Given the description of an element on the screen output the (x, y) to click on. 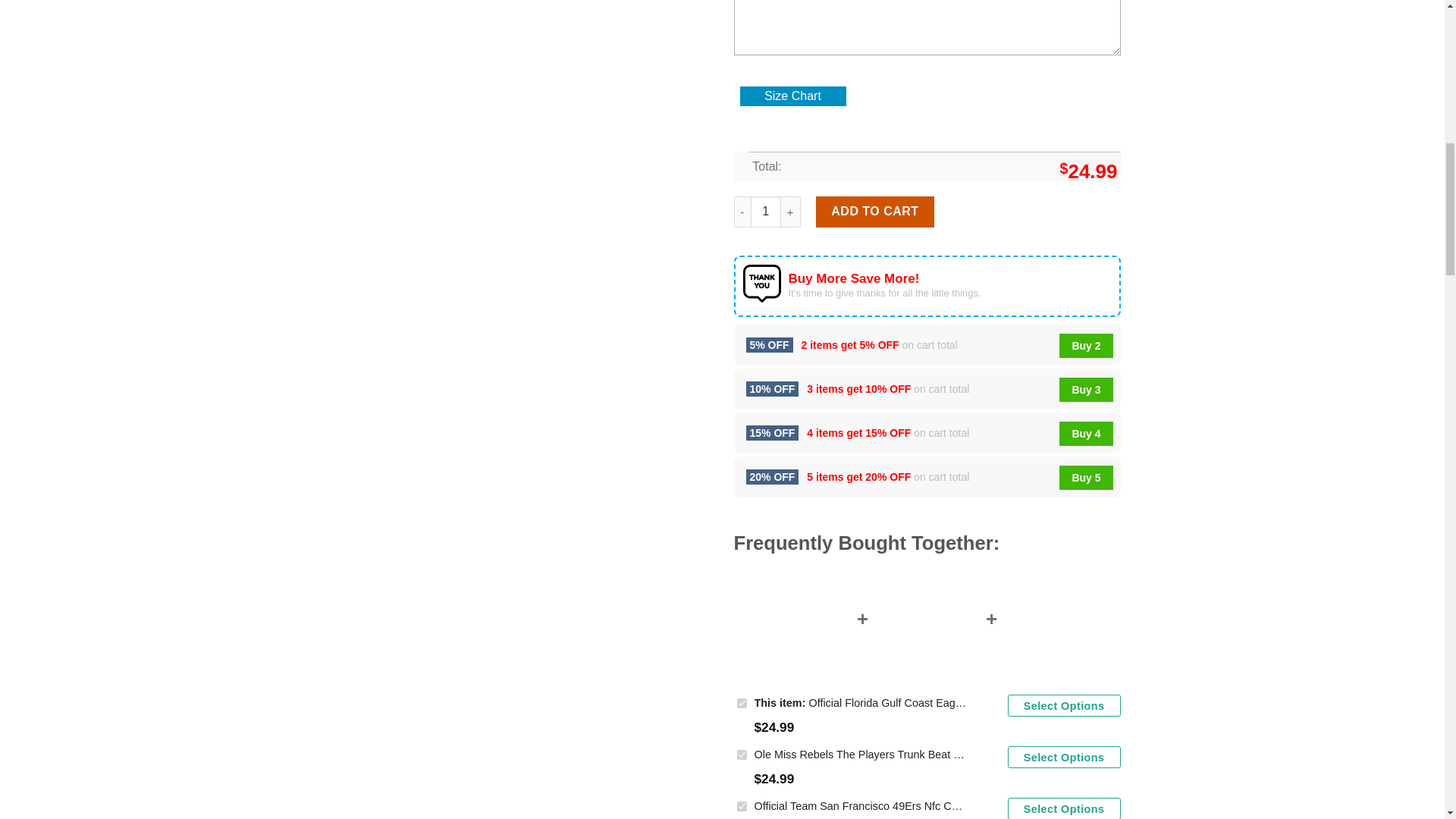
9395 (741, 806)
1 (765, 211)
9375 (741, 755)
34652 (741, 703)
